Given the description of an element on the screen output the (x, y) to click on. 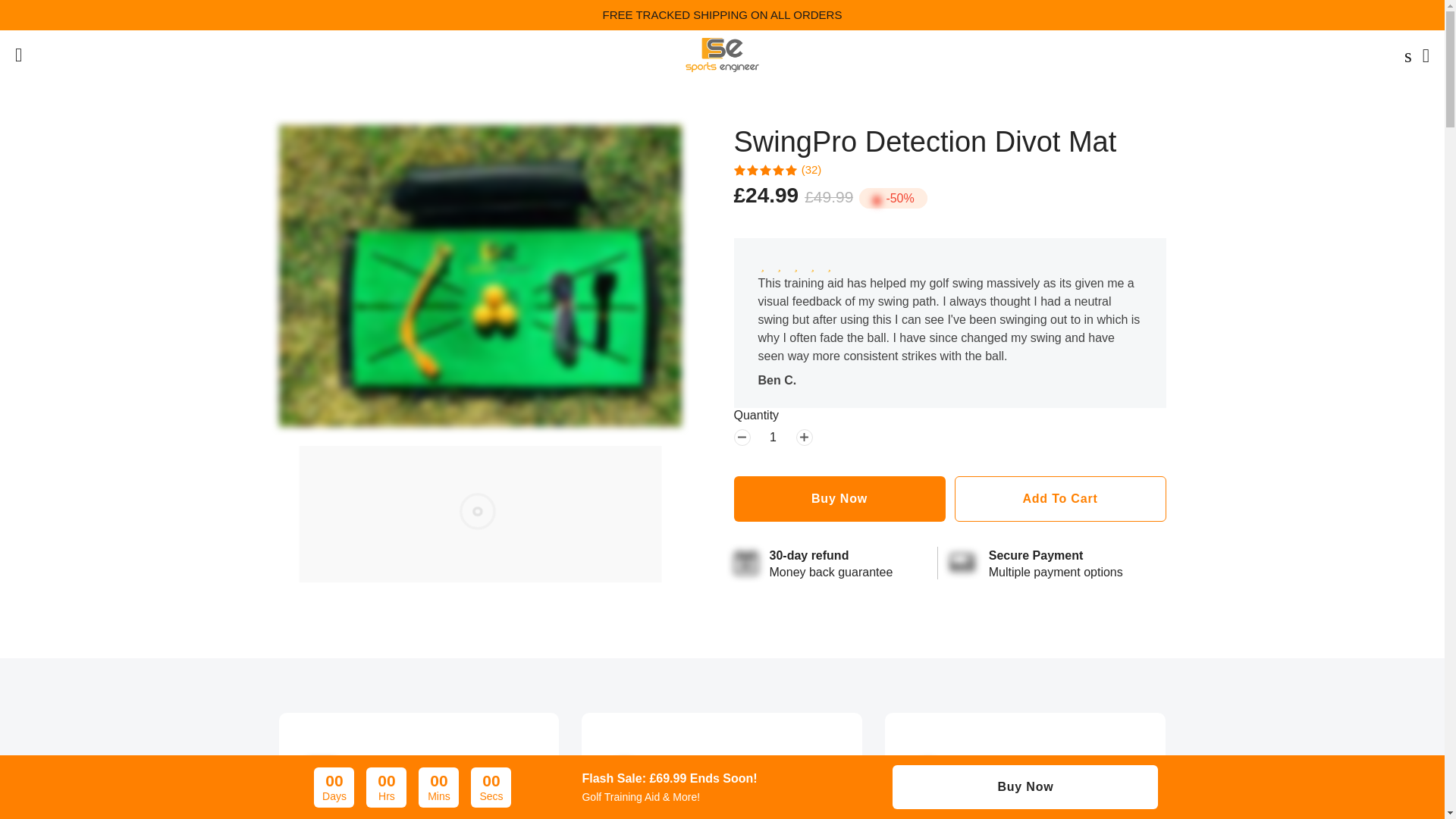
1 (773, 437)
